Given the description of an element on the screen output the (x, y) to click on. 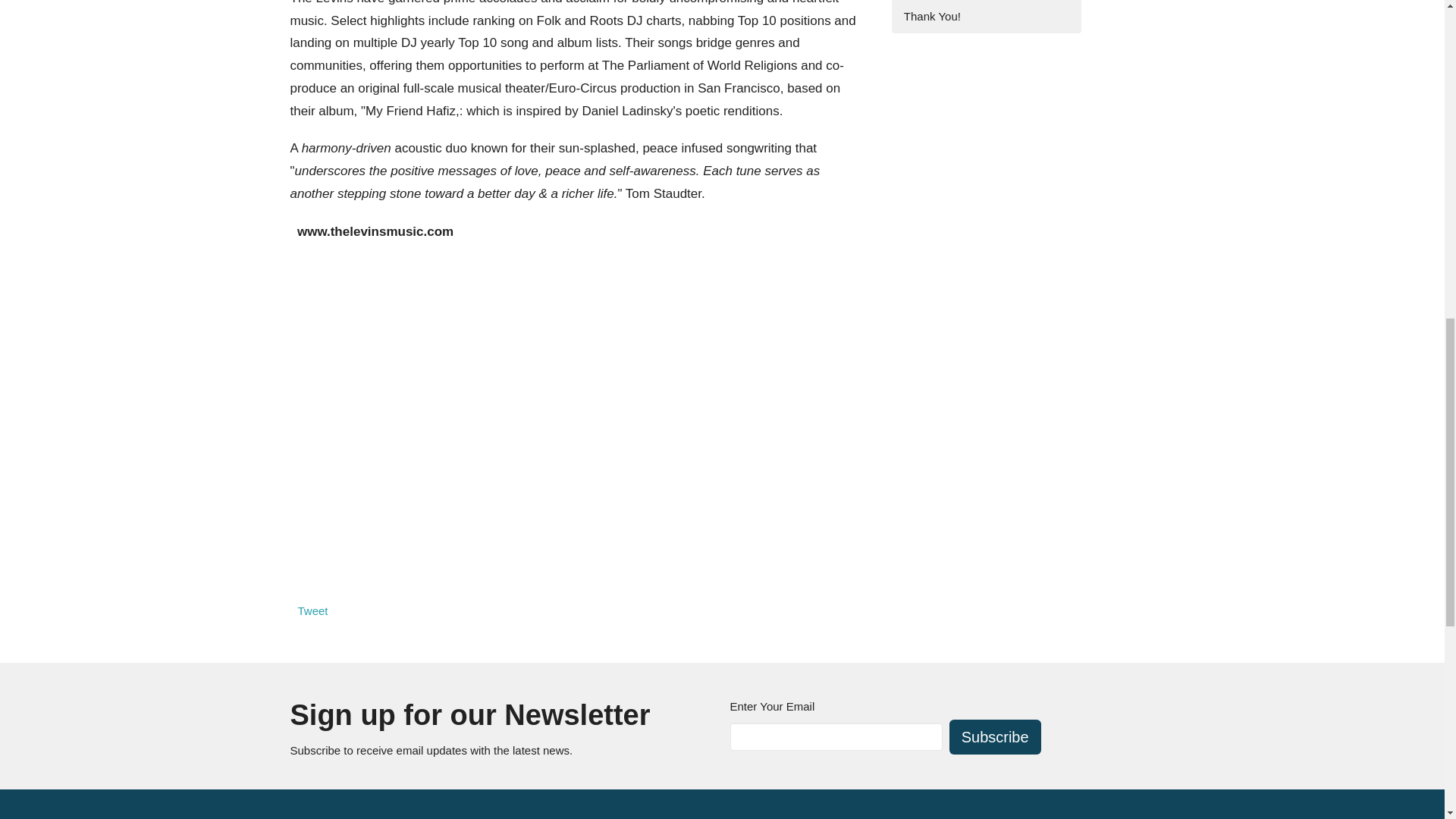
Tweet (312, 610)
Thank You! (986, 16)
Subscribe (995, 737)
